Given the description of an element on the screen output the (x, y) to click on. 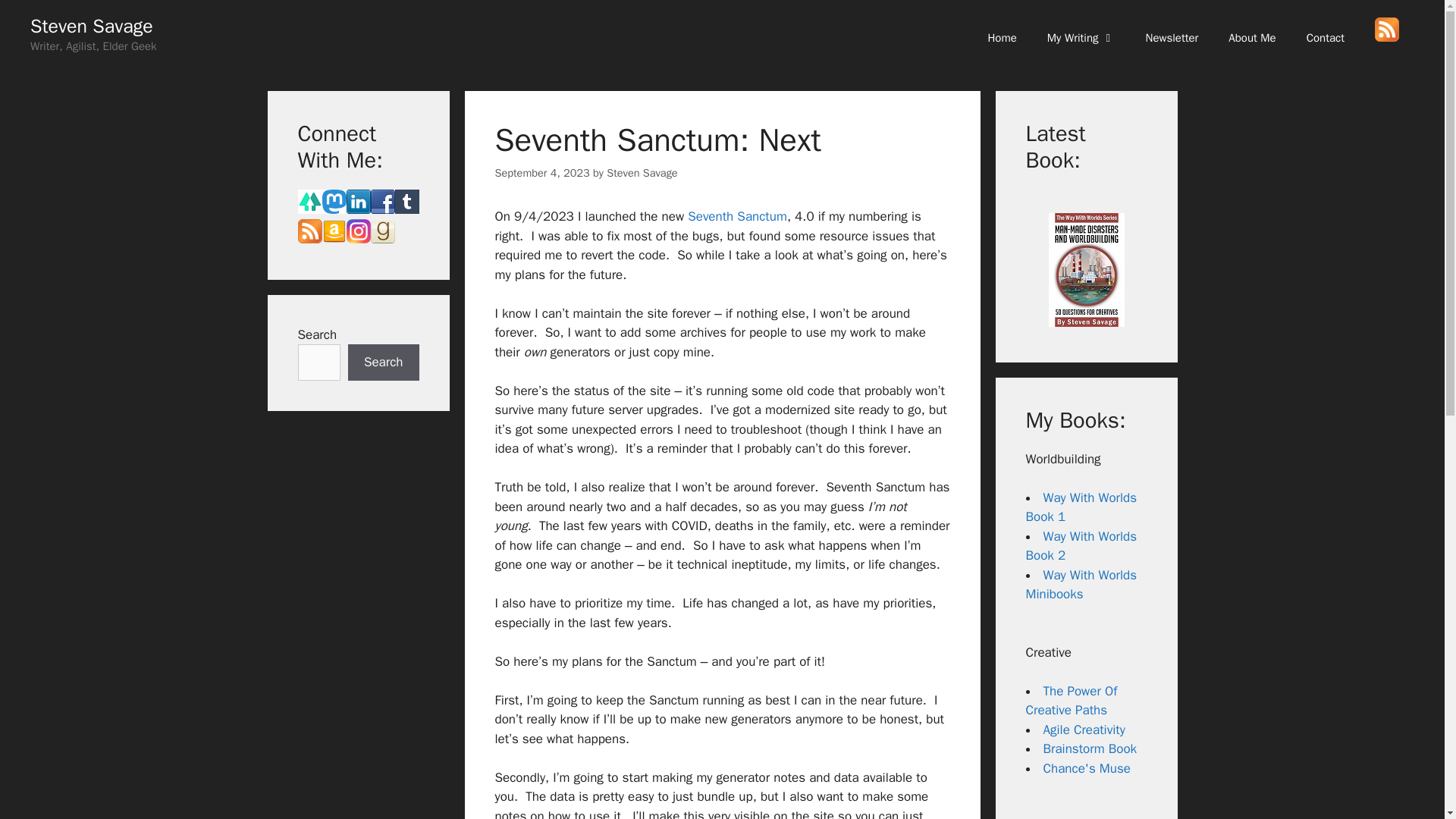
Steven Savage (91, 25)
Chance's Muse (1087, 768)
Brainstorm Book (1090, 748)
Contact (1325, 37)
Search (383, 361)
Seventh Sanctum (737, 216)
The Power Of Creative Paths (1070, 701)
Agile Creativity (1084, 729)
My Writing (1081, 37)
Way With Worlds Book 1 (1081, 507)
Newsletter (1172, 37)
View all posts by Steven Savage (642, 172)
About Me (1251, 37)
Home (1001, 37)
Steven Savage (642, 172)
